Given the description of an element on the screen output the (x, y) to click on. 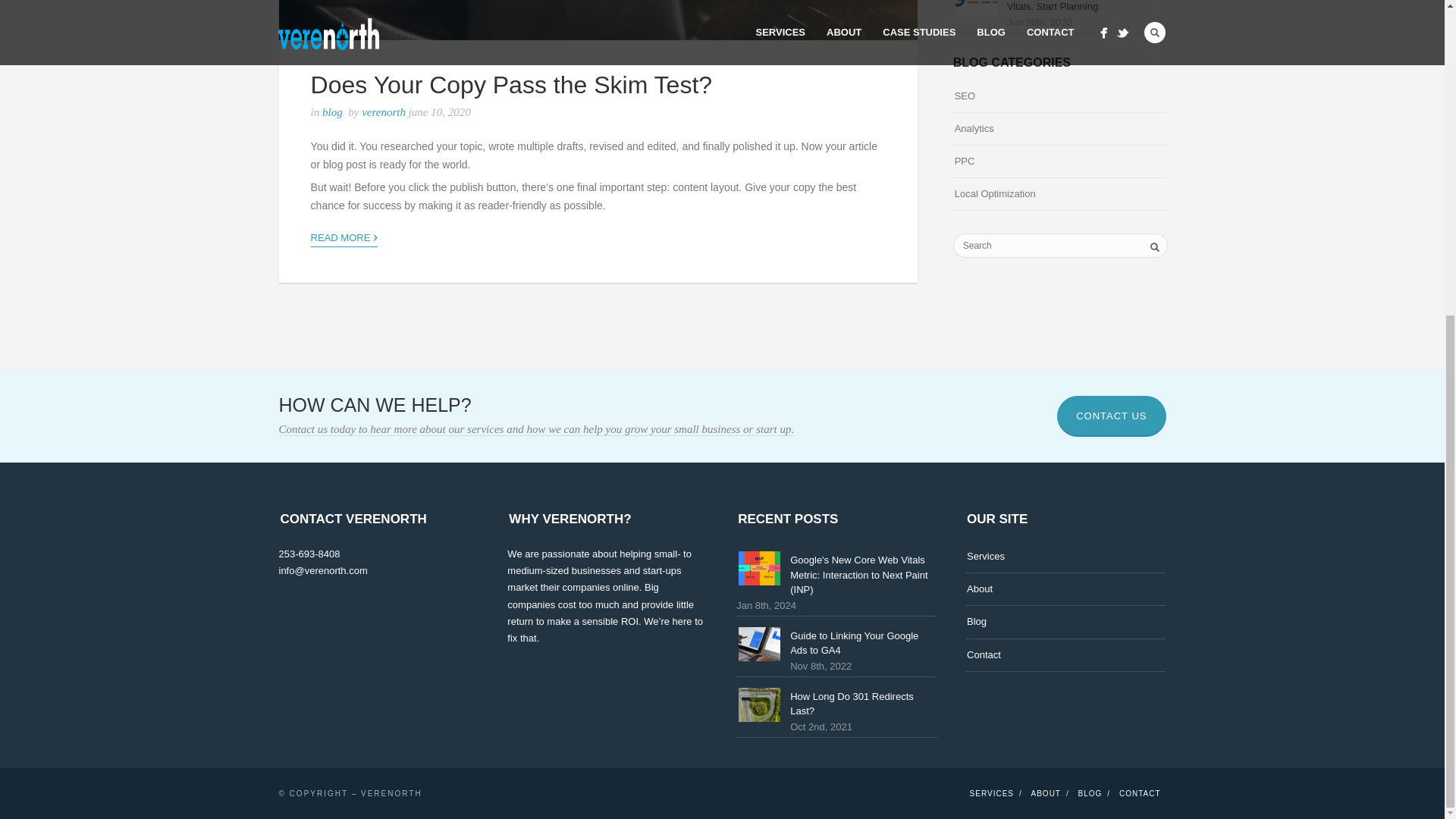
Google Announces Core Web Vitals. Start Planning. (1072, 6)
Does Your Copy Pass the Skim Test? (511, 84)
blog (331, 111)
verenorth (385, 111)
